Given the description of an element on the screen output the (x, y) to click on. 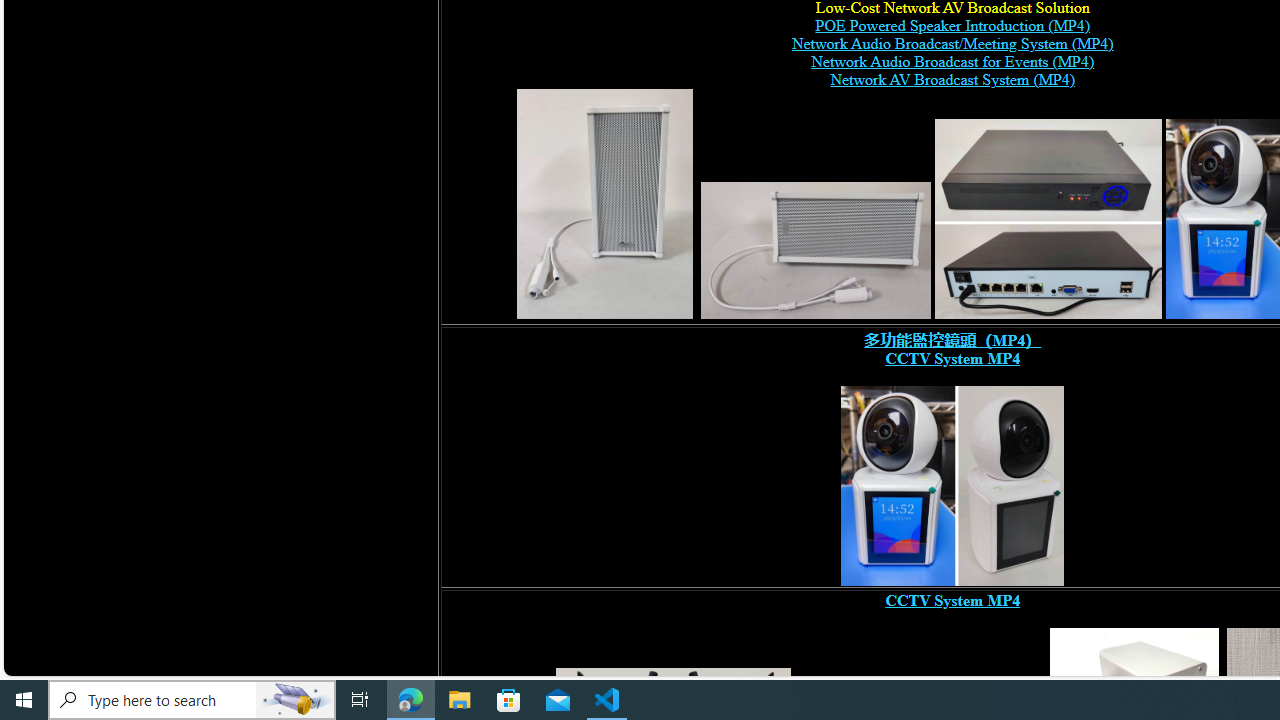
POE switch, digital network video recorder, (1048, 218)
POE Powered Speaker Introduction (MP4) (952, 26)
Network Audio Broadcast/Meeting System (MP4) (952, 44)
Network Audio Broadcast for Events (MP4)  (952, 62)
wireless network camera, (952, 485)
CCTV System MP4 (952, 600)
Network AV Broadcast System (MP4) (952, 80)
